Given the description of an element on the screen output the (x, y) to click on. 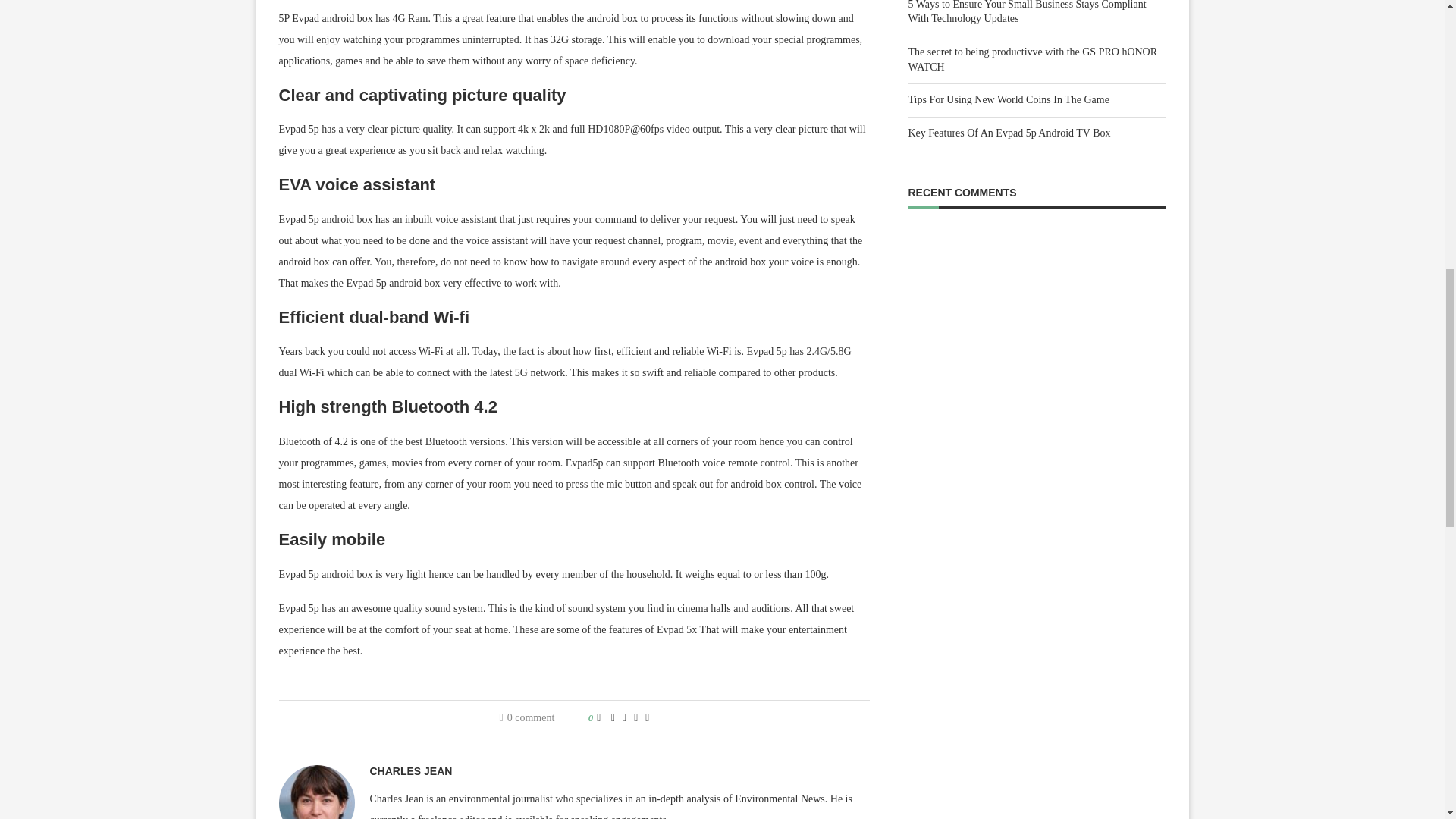
CHARLES JEAN (410, 770)
Author Charles Jean (410, 770)
Like (597, 717)
